Given the description of an element on the screen output the (x, y) to click on. 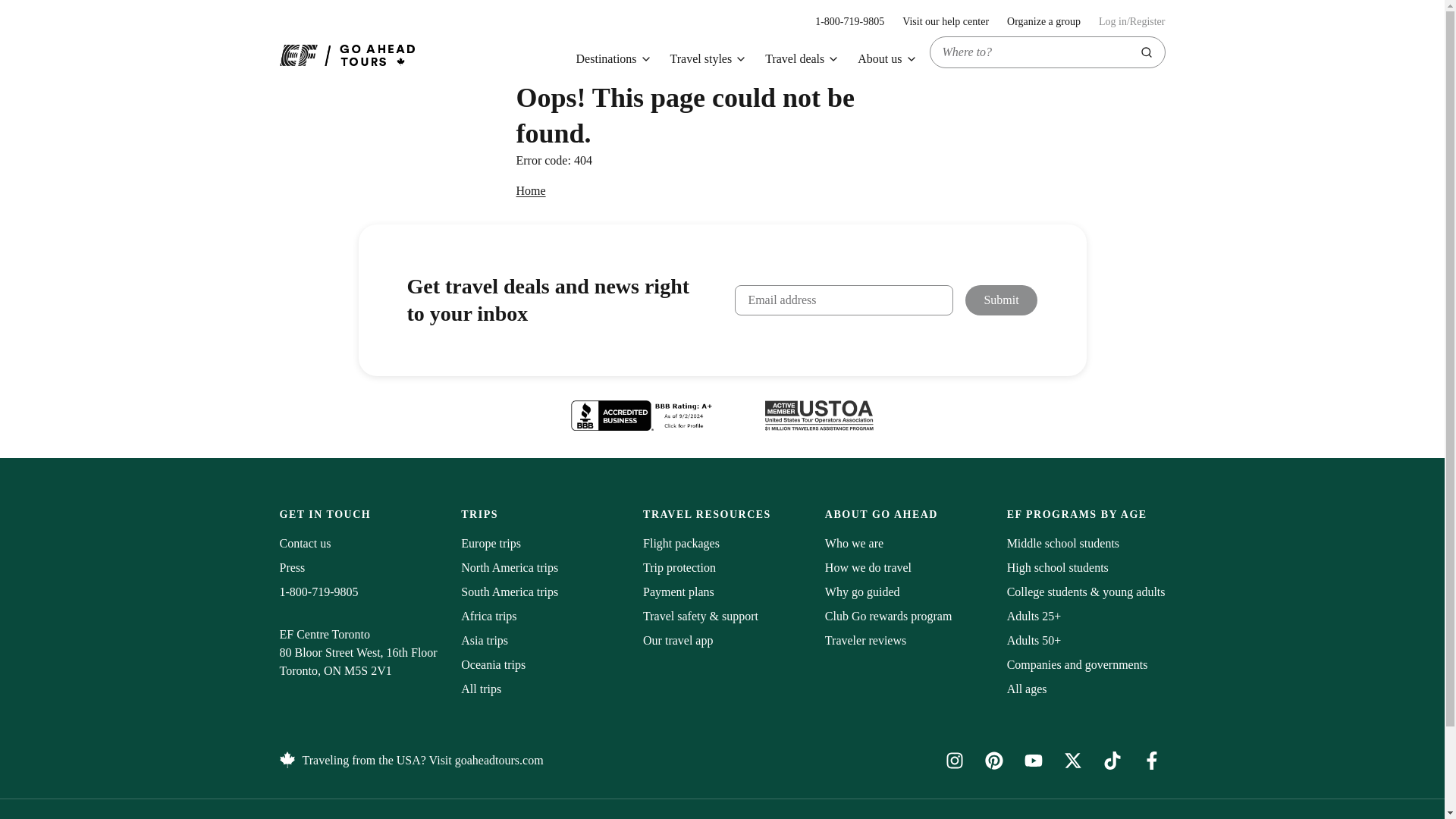
About us (887, 59)
Organize a group (1043, 21)
Destinations (614, 59)
Home (530, 190)
Visit our help center (945, 21)
Travel deals (849, 21)
Submit (802, 59)
Travel styles (1000, 300)
